Given the description of an element on the screen output the (x, y) to click on. 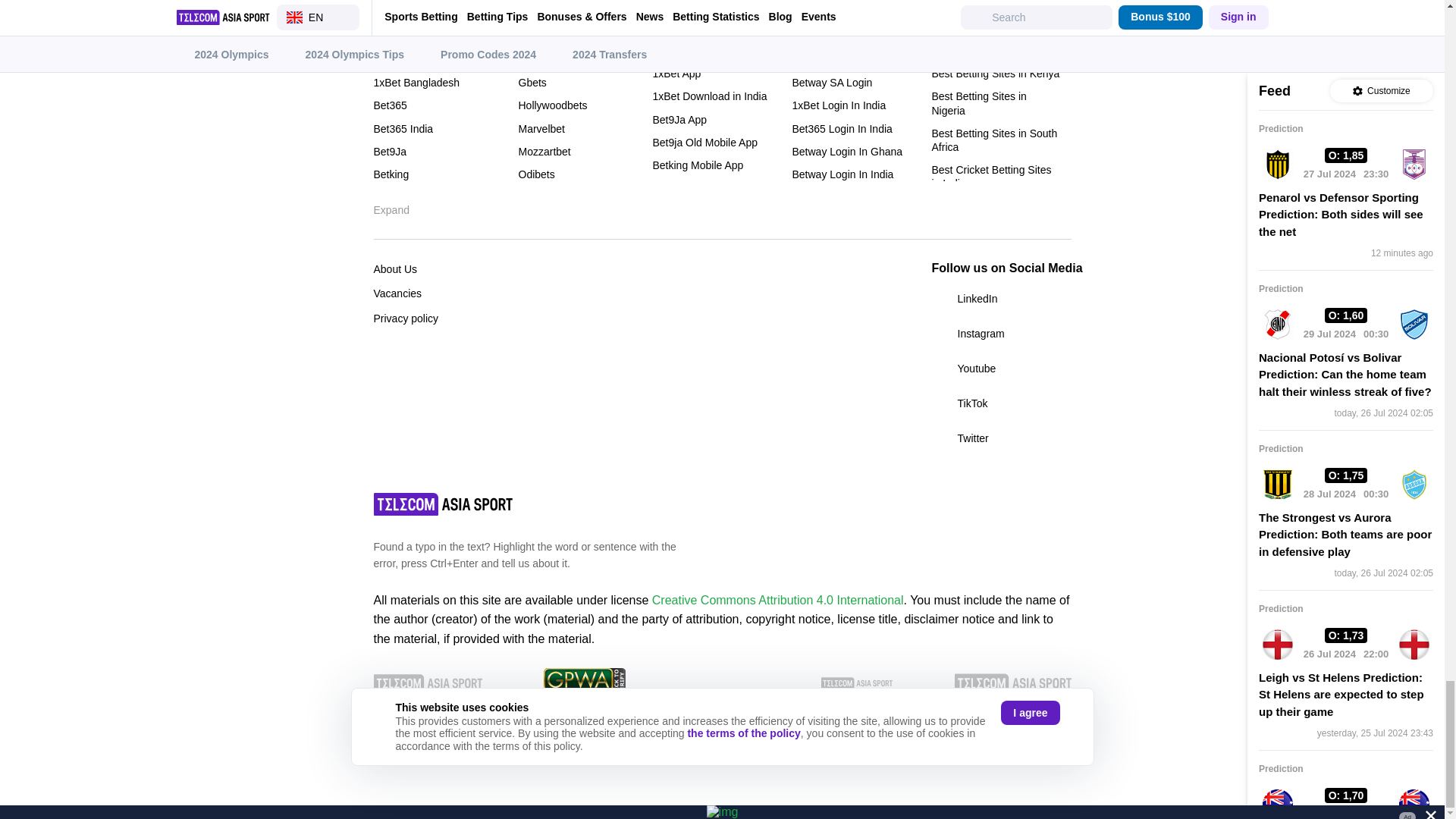
Youtube (1000, 368)
Instagram (1000, 333)
TikTok (1000, 402)
LinkedIn (1000, 298)
